Given the description of an element on the screen output the (x, y) to click on. 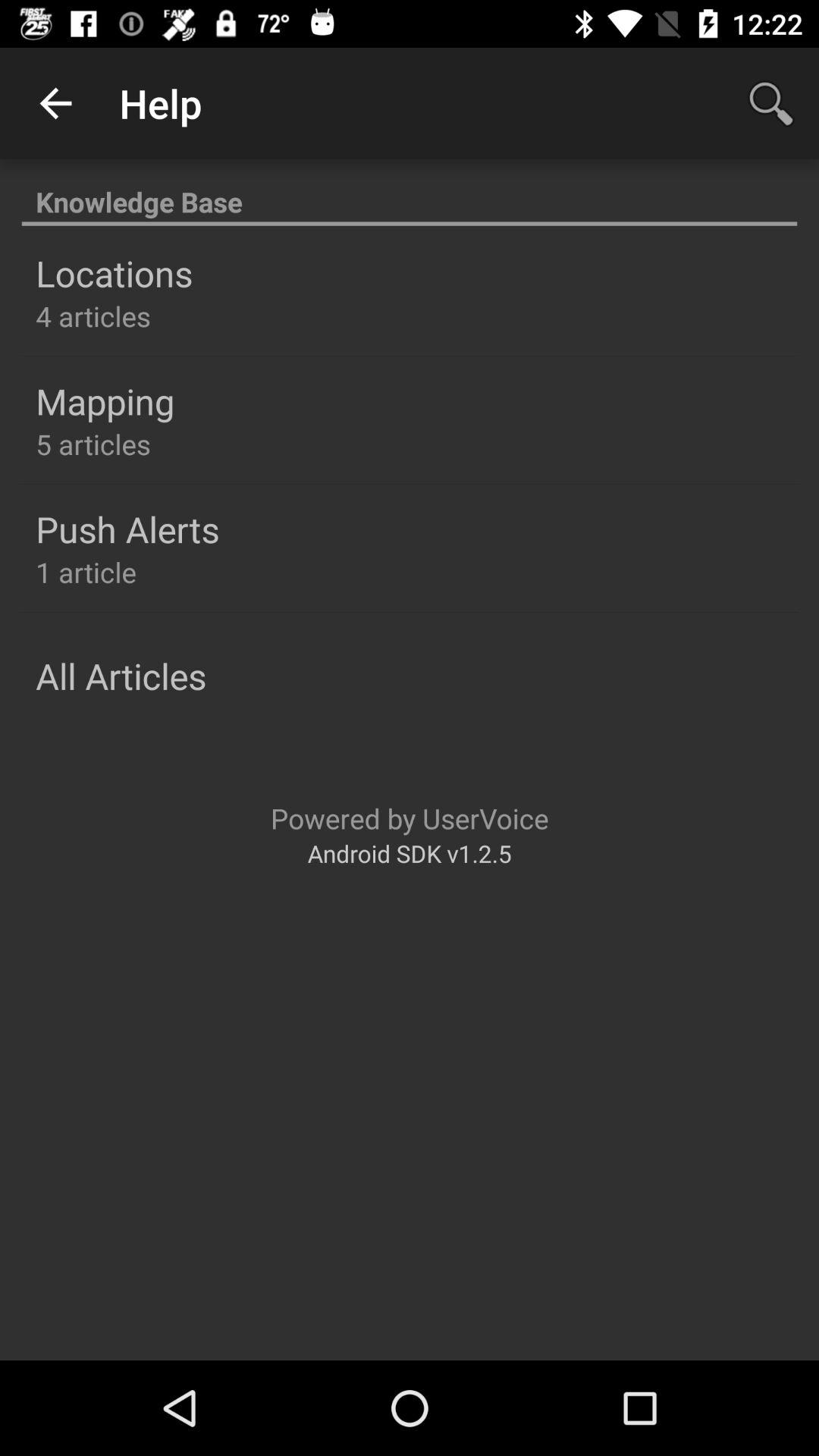
open the item above 5 articles (104, 401)
